Given the description of an element on the screen output the (x, y) to click on. 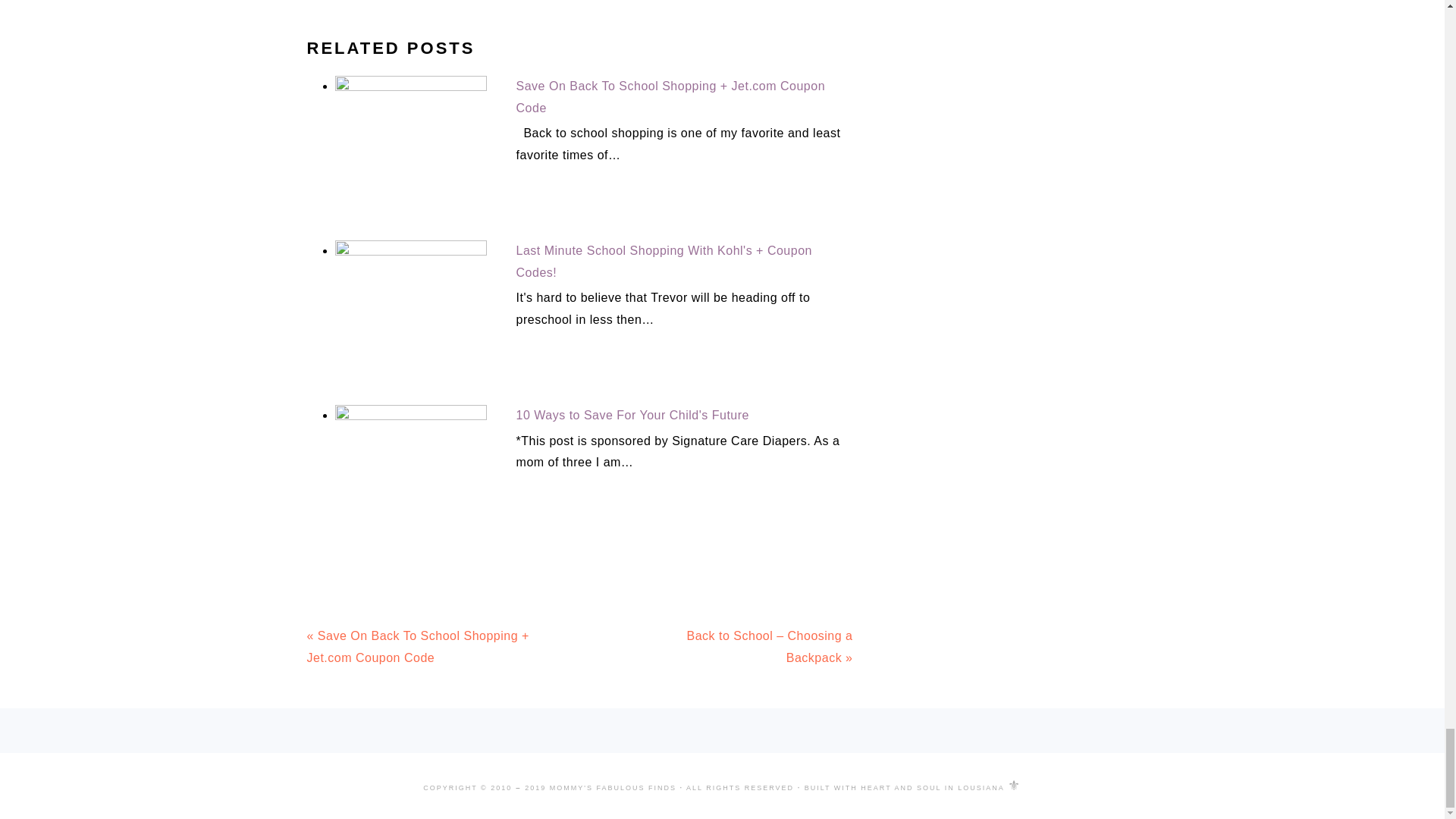
10 Ways to Save For Your Child's Future (632, 414)
